Given the description of an element on the screen output the (x, y) to click on. 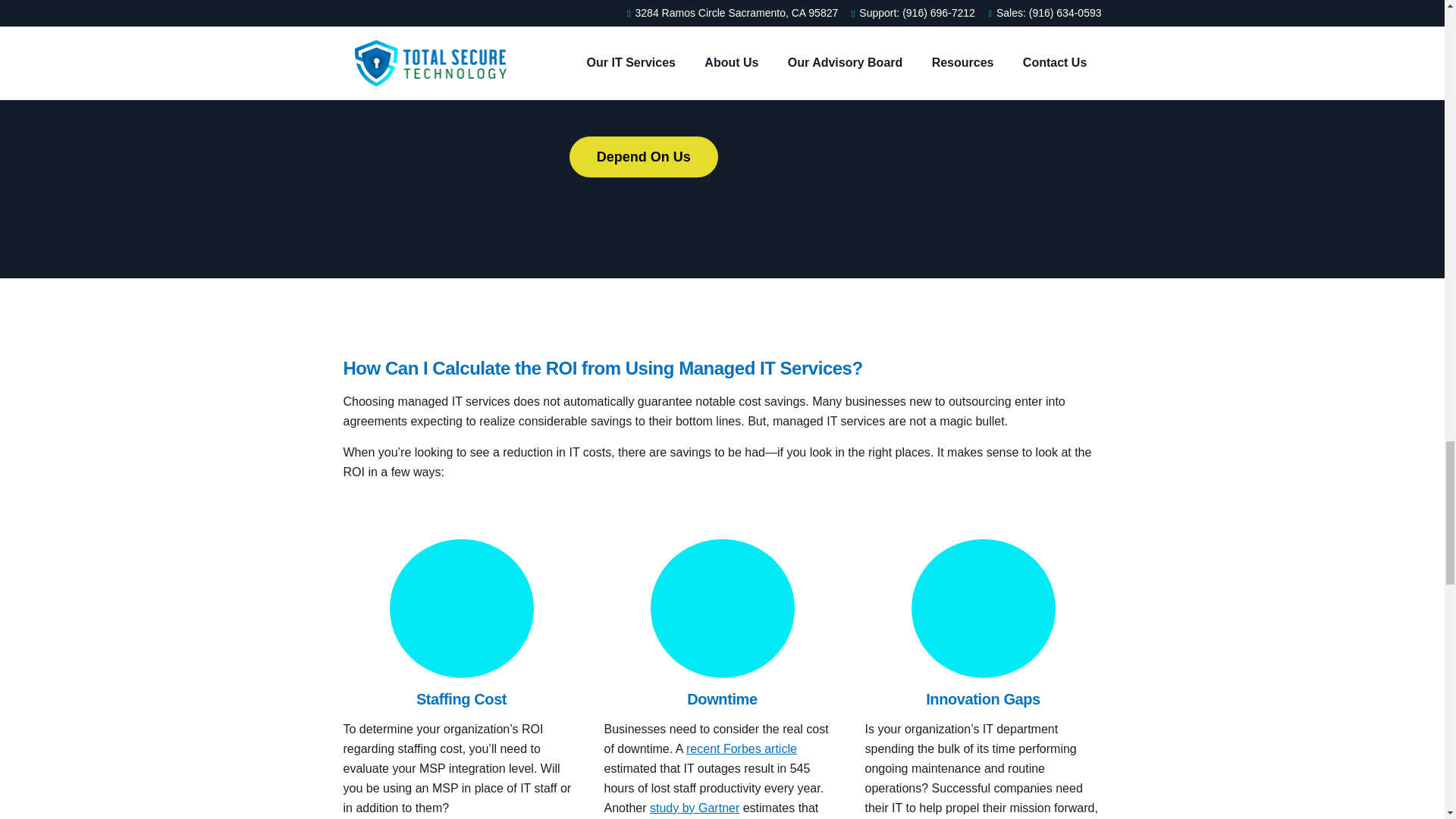
recent Forbes article (740, 748)
Depend On Us (643, 156)
study by Gartner (694, 807)
